Given the description of an element on the screen output the (x, y) to click on. 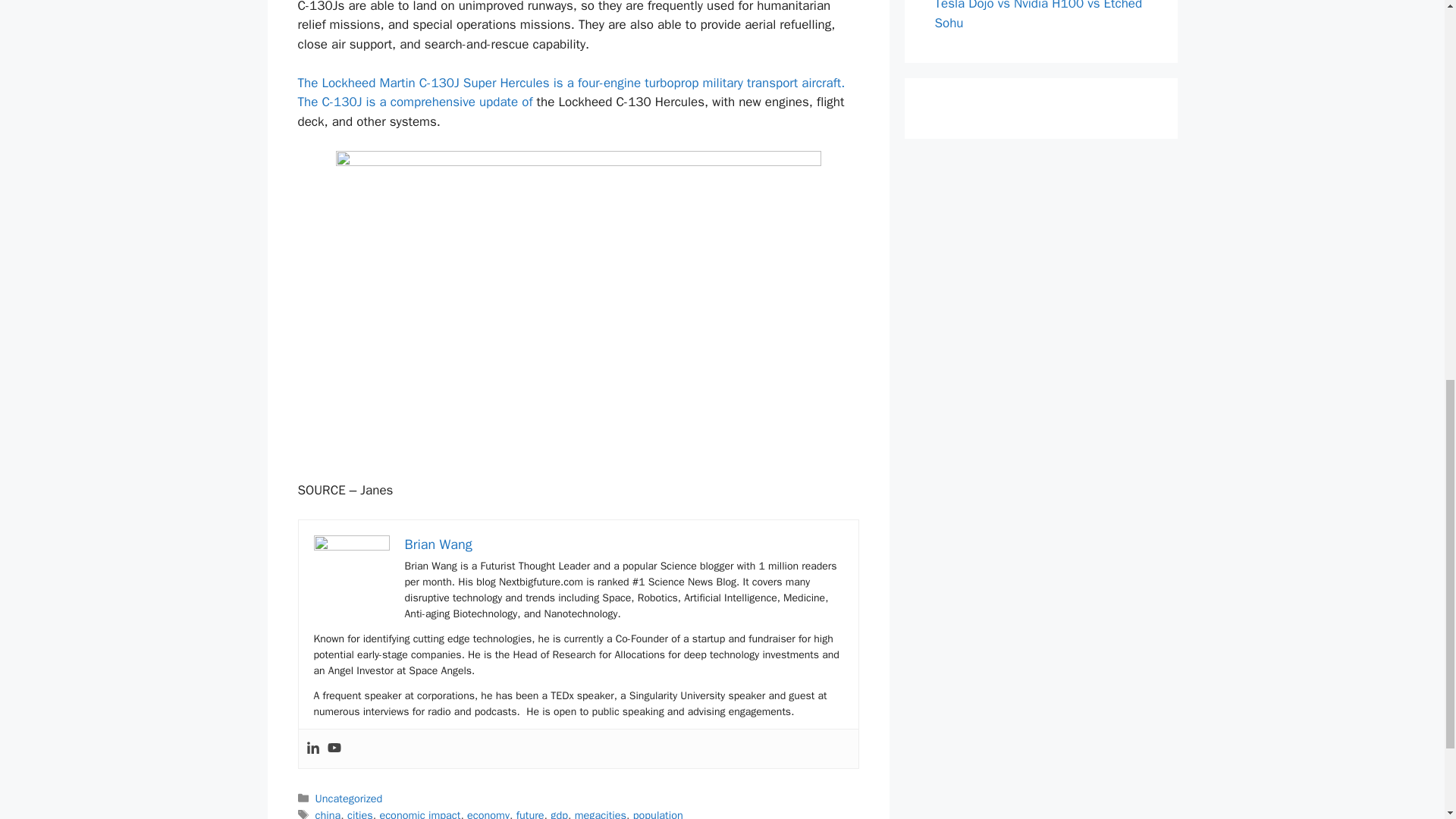
megacities (600, 813)
economic impact (419, 813)
population (657, 813)
Tesla Dojo vs Nvidia H100 vs Etched Sohu (1037, 15)
Uncategorized (348, 798)
cities (359, 813)
gdp (558, 813)
economy (488, 813)
future (530, 813)
